Given the description of an element on the screen output the (x, y) to click on. 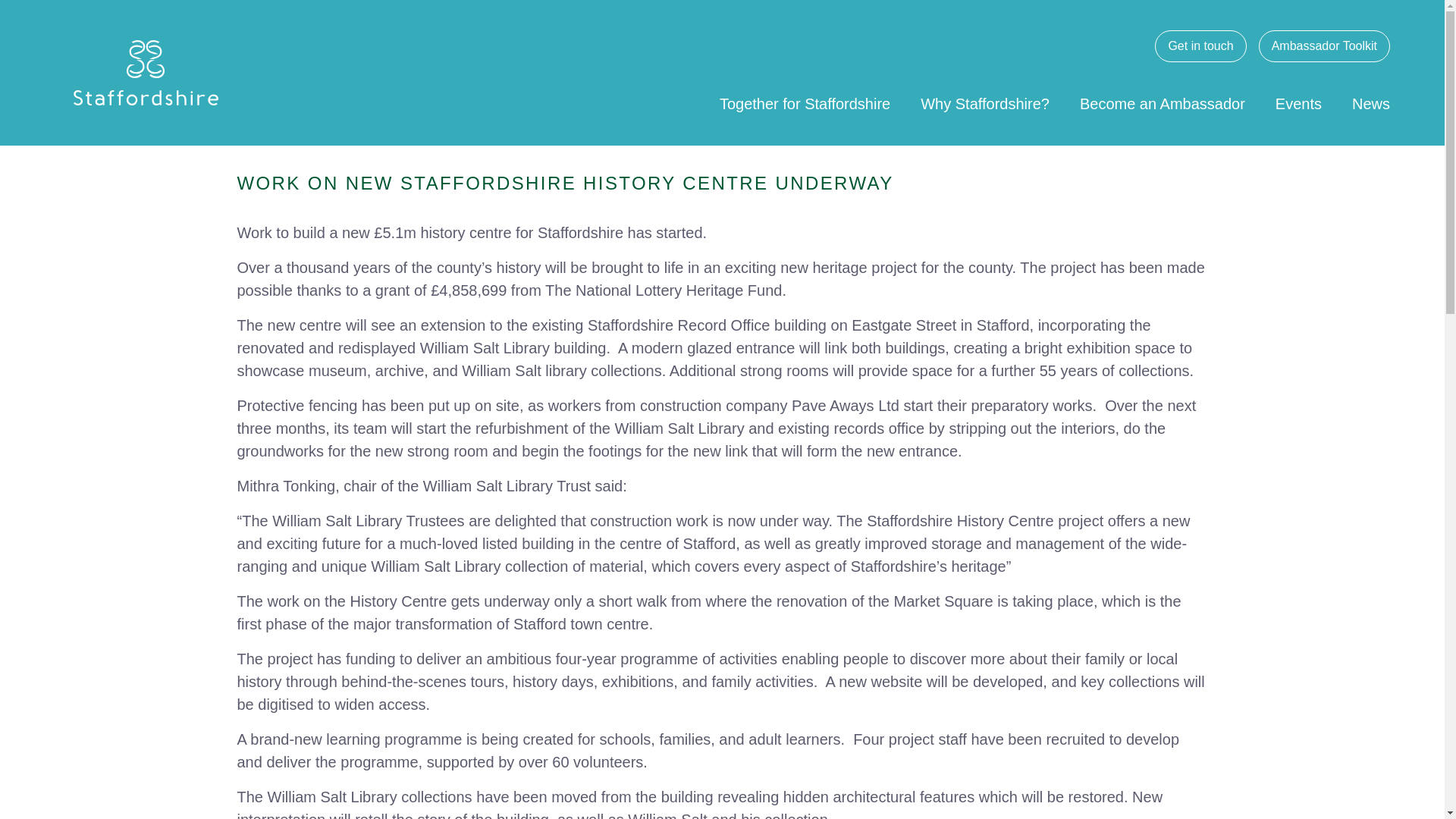
Get in touch (1200, 46)
Together for Staffordshire (804, 103)
Become an Ambassador (1162, 103)
News (1371, 103)
Events (1298, 103)
Ambassador Toolkit (1324, 46)
Why Staffordshire? (984, 103)
